Given the description of an element on the screen output the (x, y) to click on. 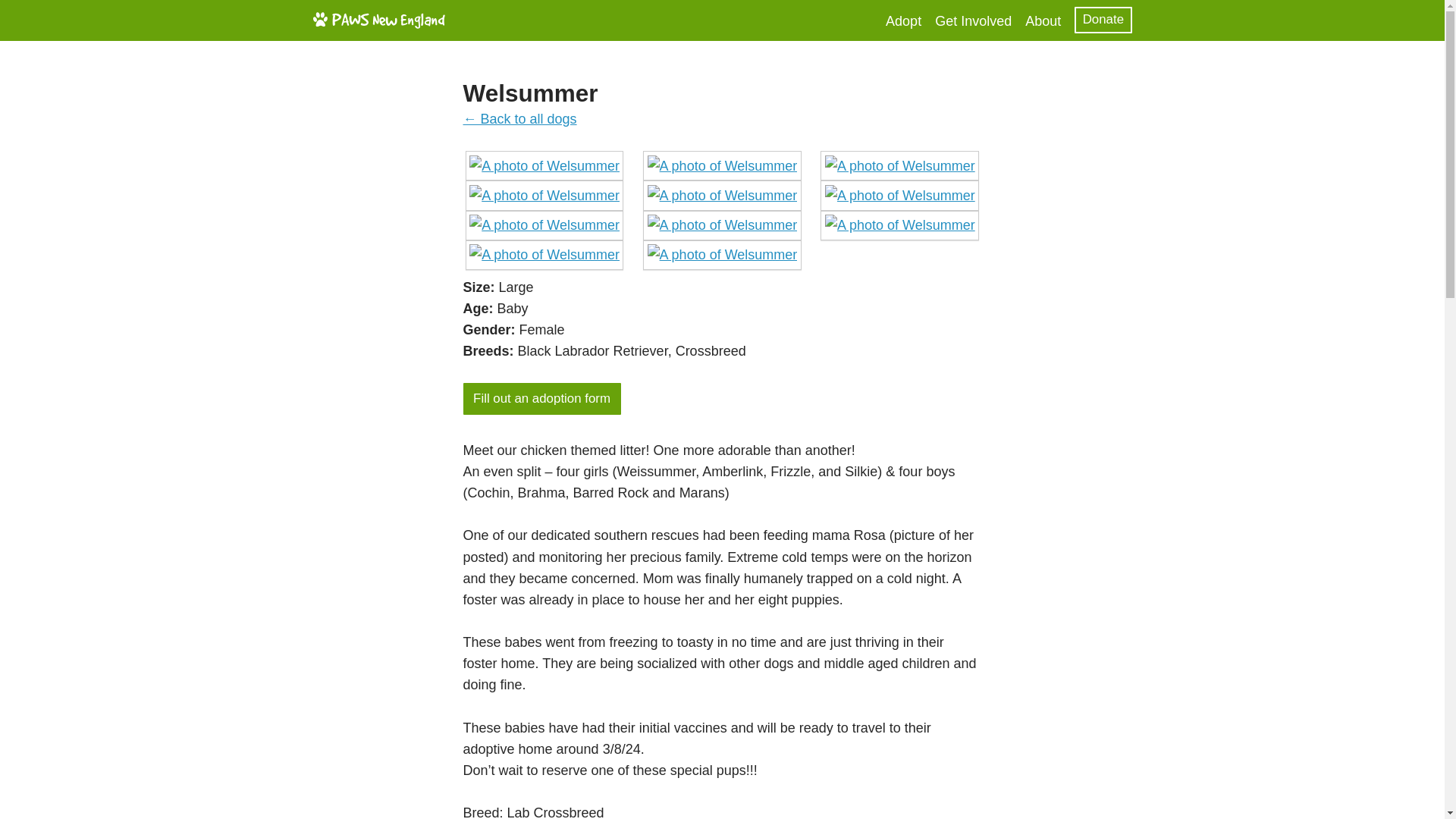
Get Involved (972, 20)
Fill out an adoption form (541, 398)
PAWS New England (378, 20)
Donate (1102, 19)
About (1043, 20)
PAWS New England (378, 23)
Adopt (903, 20)
